Given the description of an element on the screen output the (x, y) to click on. 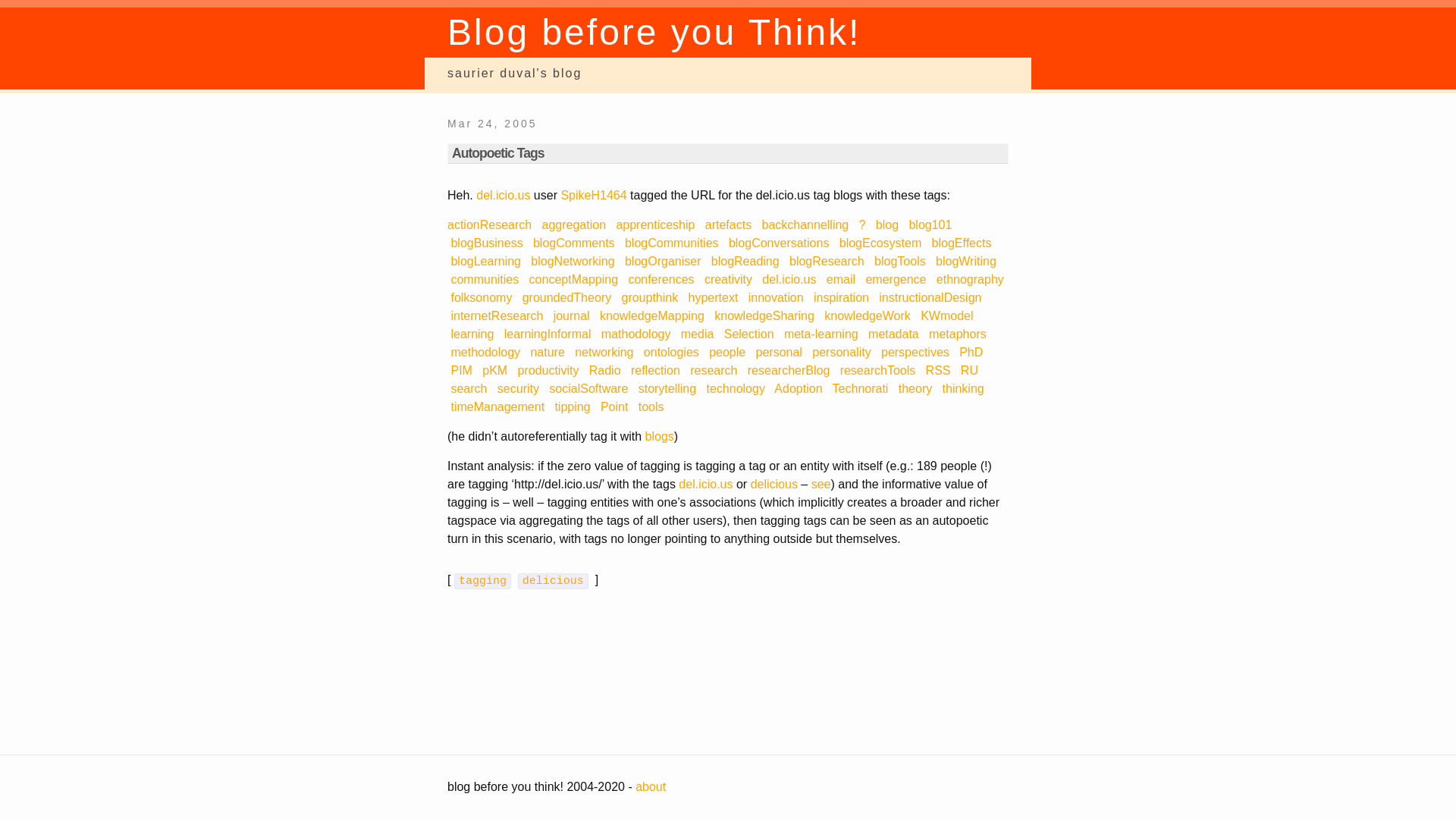
internetResearch (496, 315)
creativity (728, 278)
ethnography (970, 278)
blogCommunities (671, 242)
blog101 (930, 224)
blogComments (573, 242)
blog (887, 224)
apprenticeship (654, 224)
artefacts (727, 224)
blogTools (900, 260)
